Given the description of an element on the screen output the (x, y) to click on. 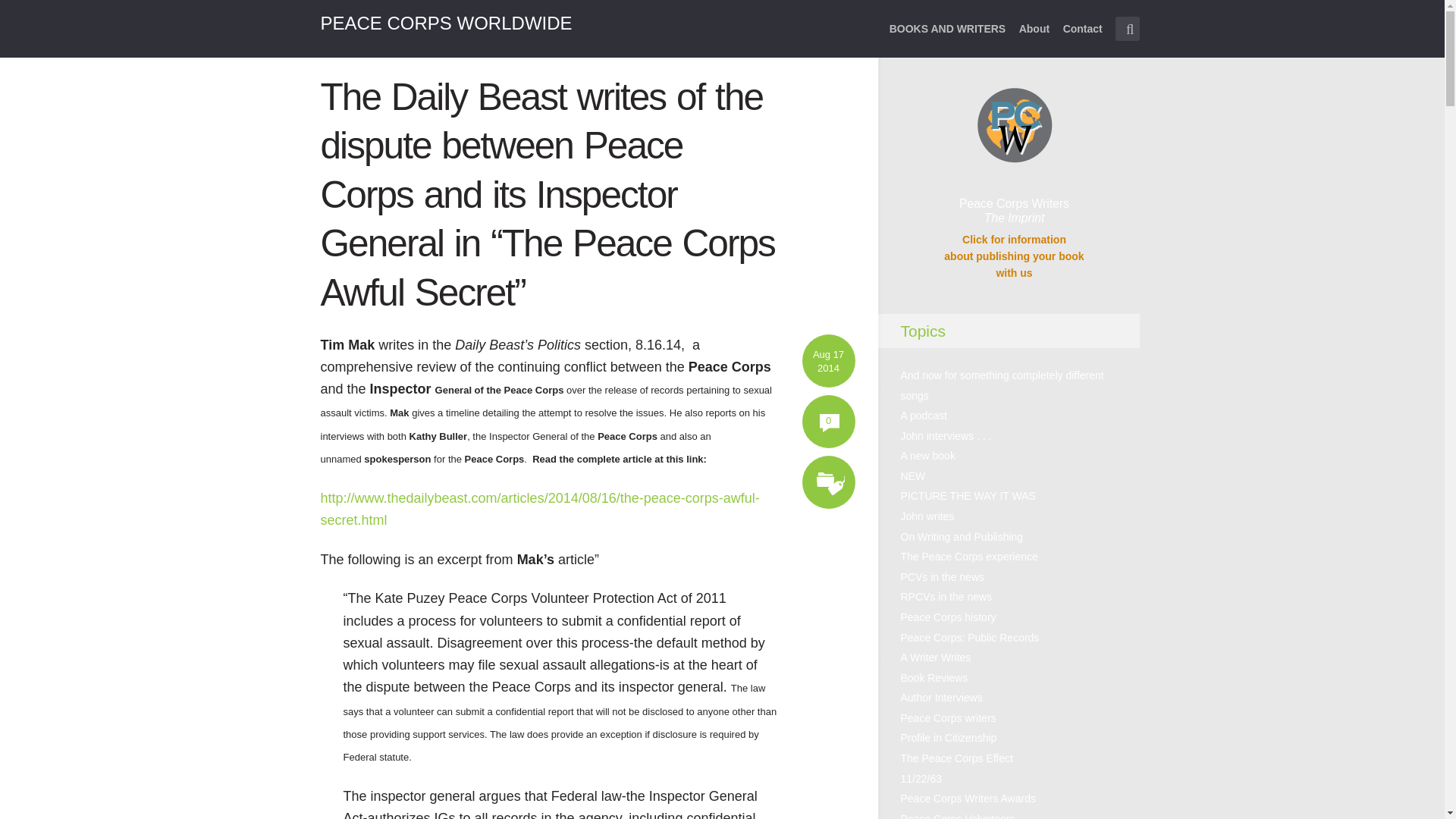
Type here to search... (1126, 28)
John interviews . . . (1013, 256)
Book Reviews (946, 435)
Peace Corps history (934, 677)
Contact (948, 616)
John writes (1082, 37)
Peace Corps writers (928, 516)
Peace Corps: Public Records (948, 717)
On Writing and Publishing (970, 637)
